Given the description of an element on the screen output the (x, y) to click on. 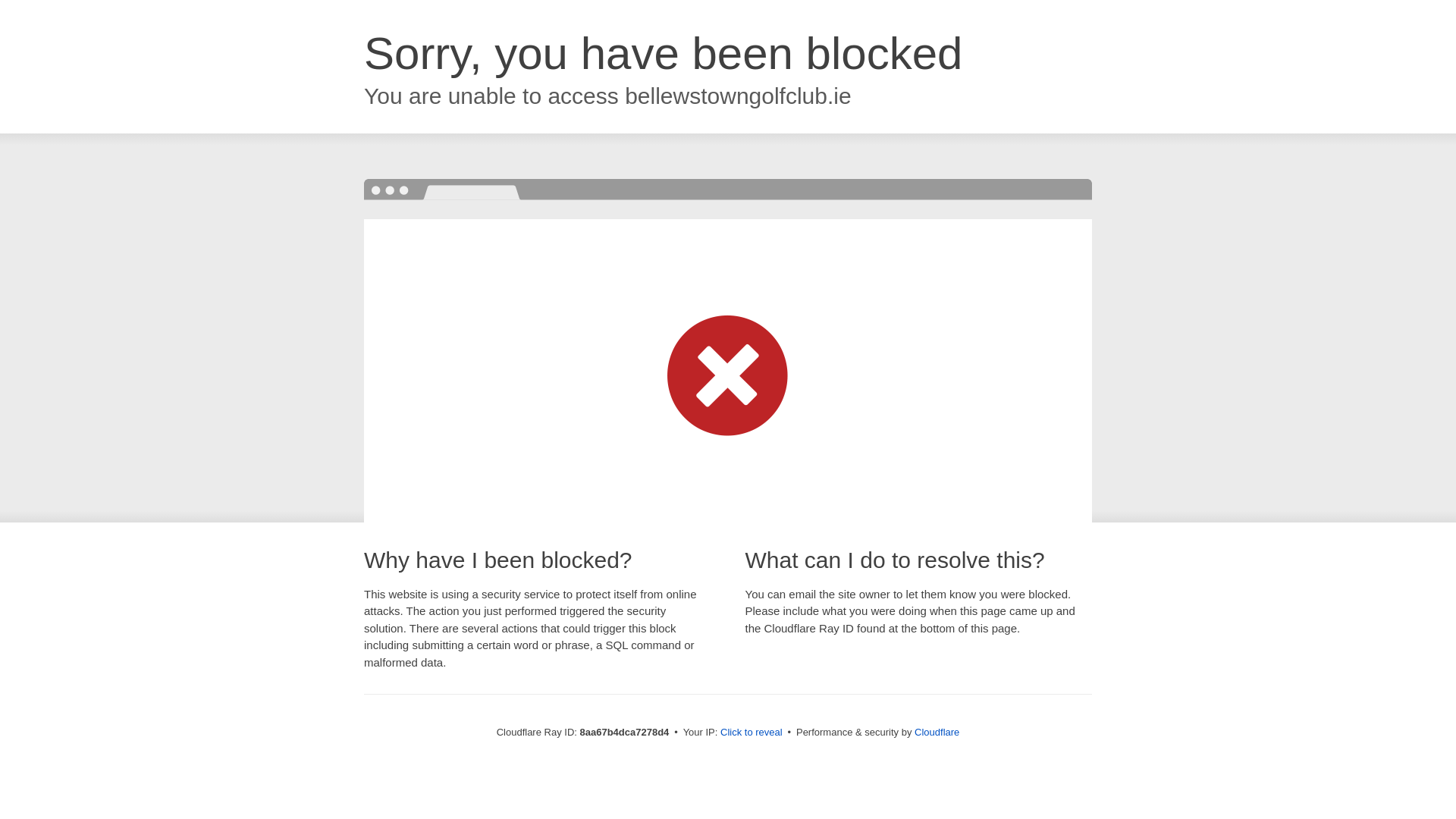
Click to reveal (751, 732)
Cloudflare (936, 731)
